Given the description of an element on the screen output the (x, y) to click on. 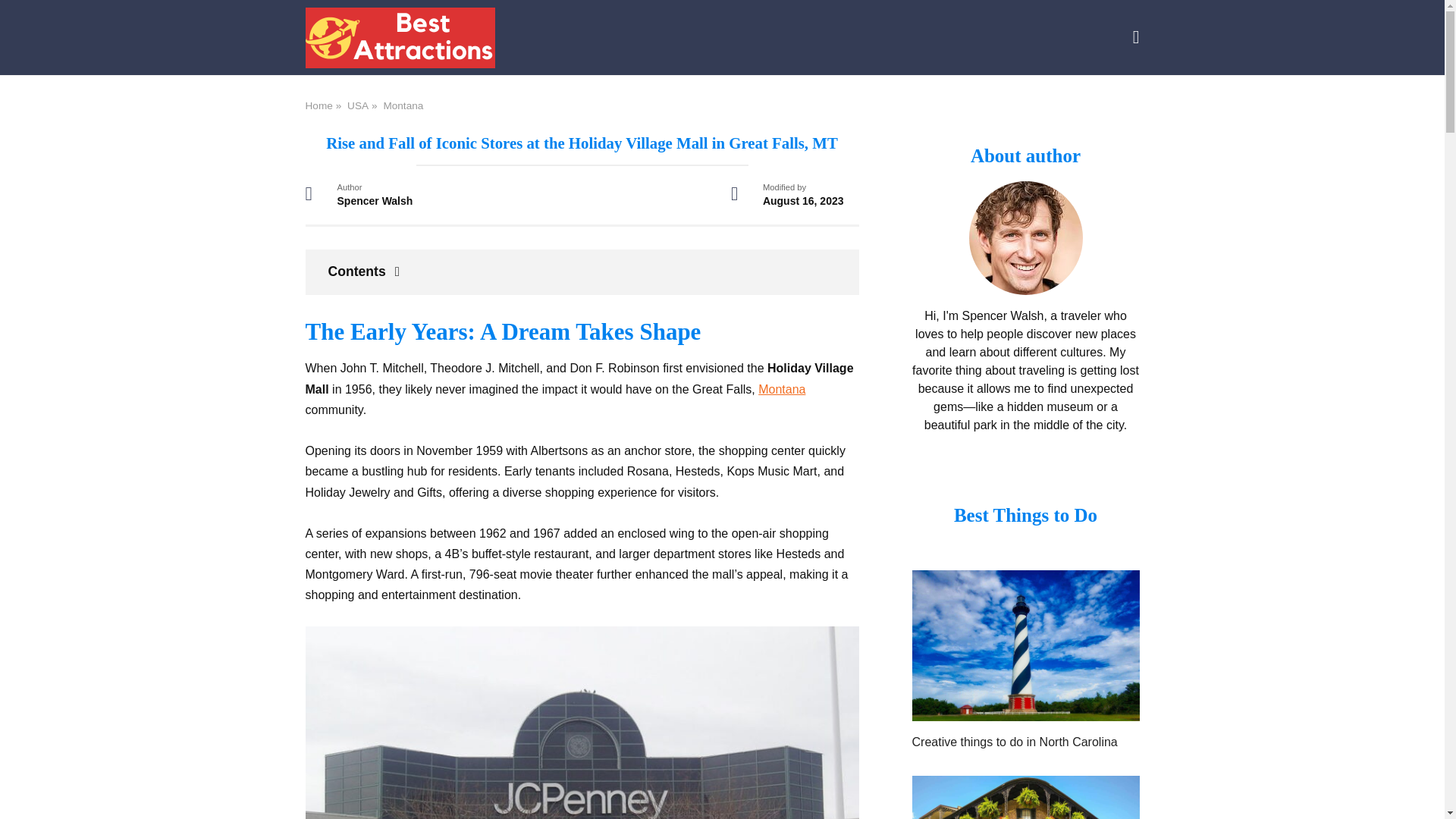
Montana (781, 389)
Creative things to do in North Carolina (1024, 711)
Creative things to do in North Carolina 6 (1024, 645)
USA (357, 105)
Creative things to do in North Carolina (1013, 741)
Montana (402, 105)
Home (317, 105)
Productive things to do in Louisiana 7 (1024, 797)
